Given the description of an element on the screen output the (x, y) to click on. 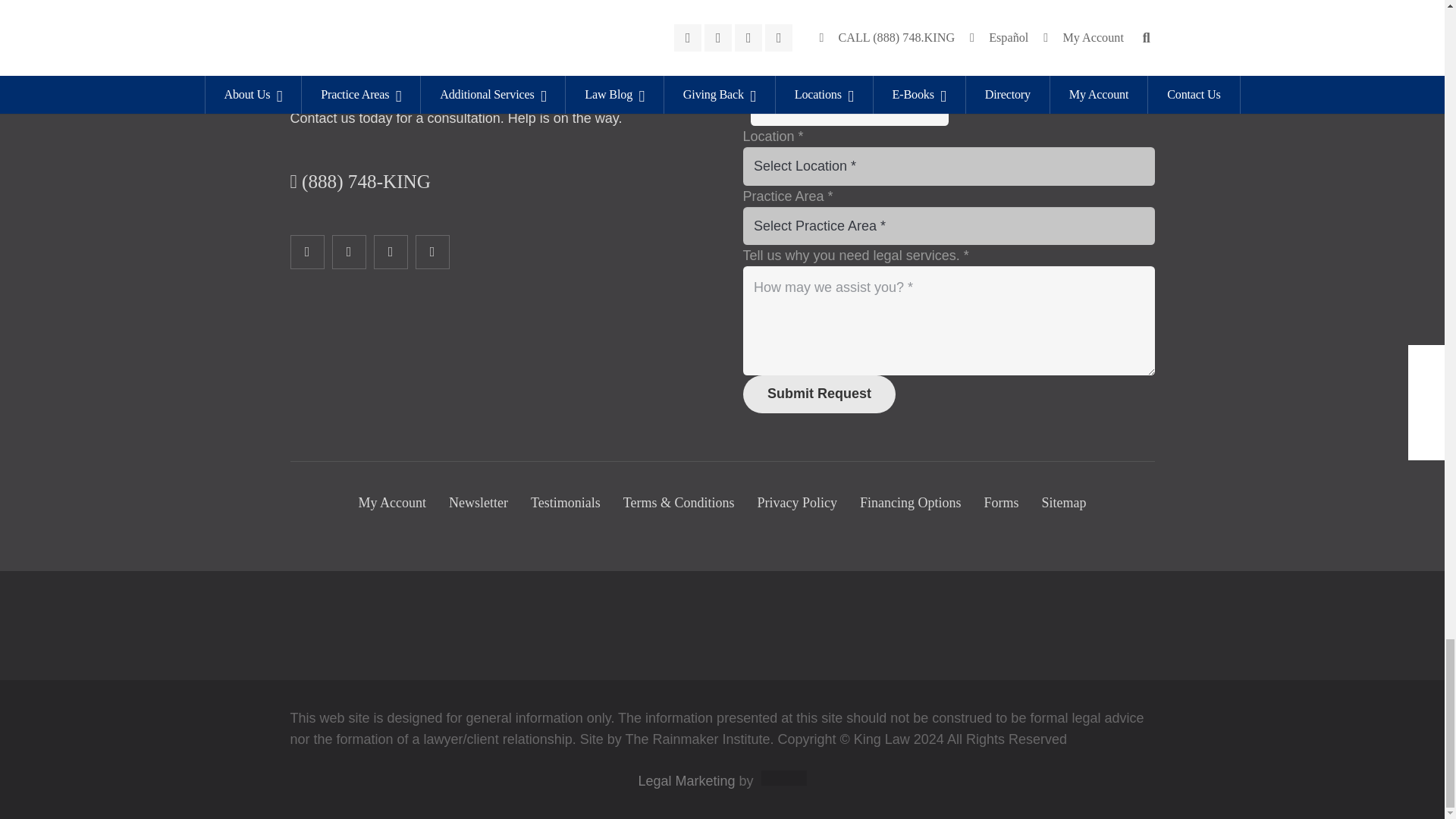
LinkedIn (389, 252)
Facebook (306, 252)
YouTube (431, 252)
Twitter (348, 252)
